Given the description of an element on the screen output the (x, y) to click on. 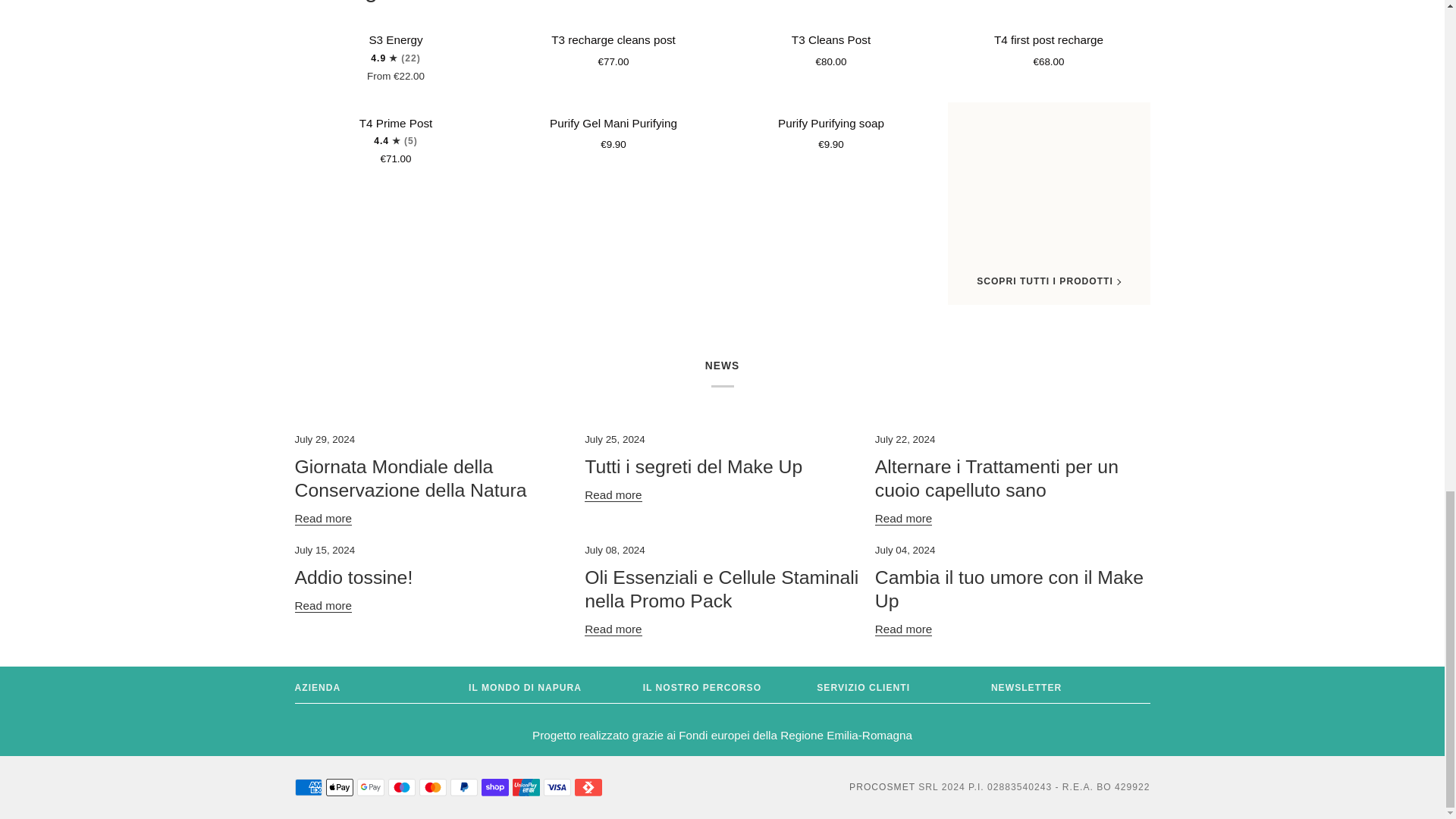
GOOGLE PAY (370, 787)
SHOP PAY (494, 787)
VISA (556, 787)
PAYPAL (463, 787)
Browse our Lemongrass Essential Oil collection (424, 2)
APPLE PAY (339, 787)
AMERICAN EXPRESS (307, 787)
Browse our Lemongrass Essential Oil collection (1078, 0)
UNION PAY (526, 787)
MASTERCARD (432, 787)
